Given the description of an element on the screen output the (x, y) to click on. 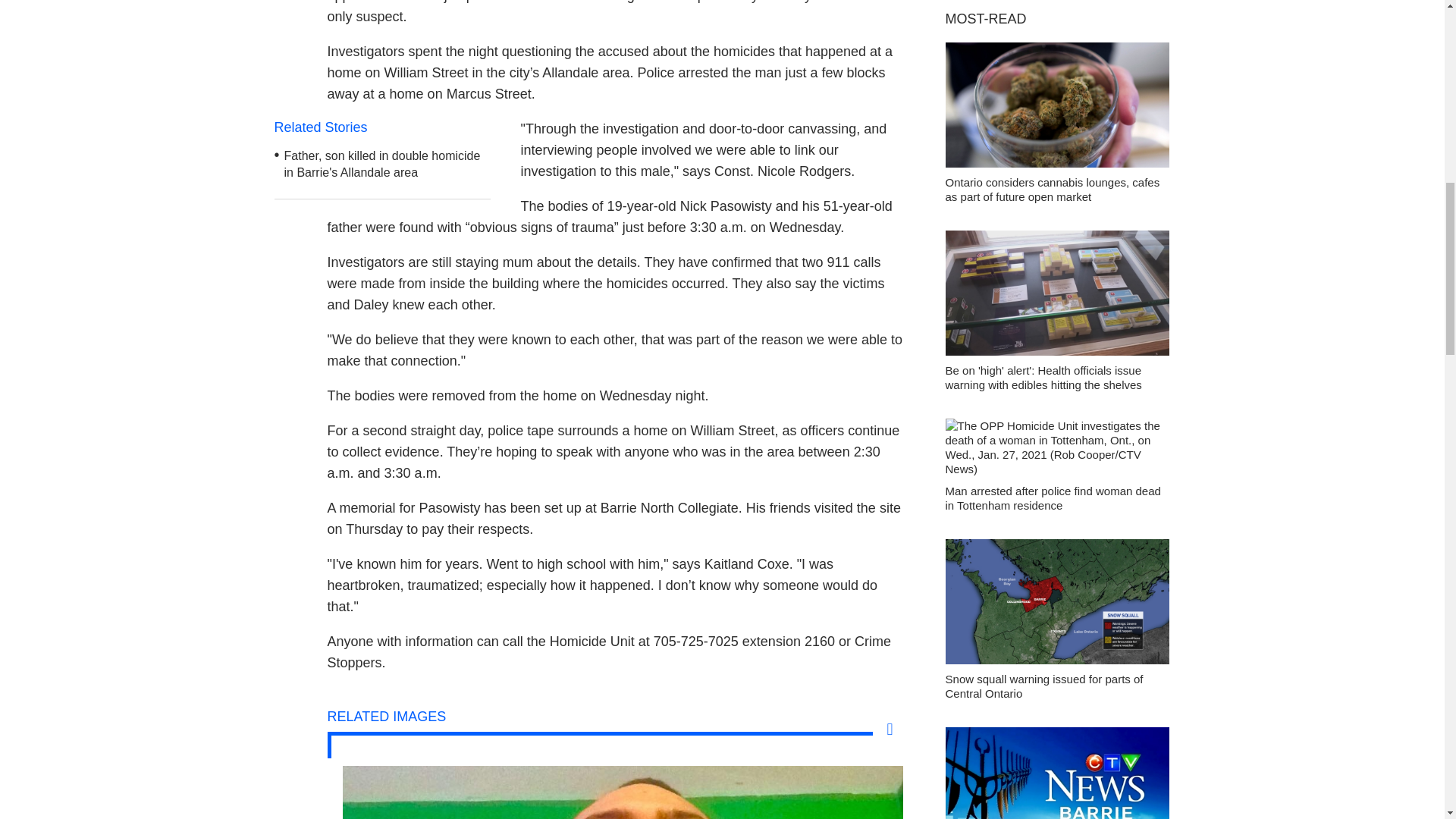
Barrie homicide (171, 792)
Dyrrin Daley (623, 792)
